Given the description of an element on the screen output the (x, y) to click on. 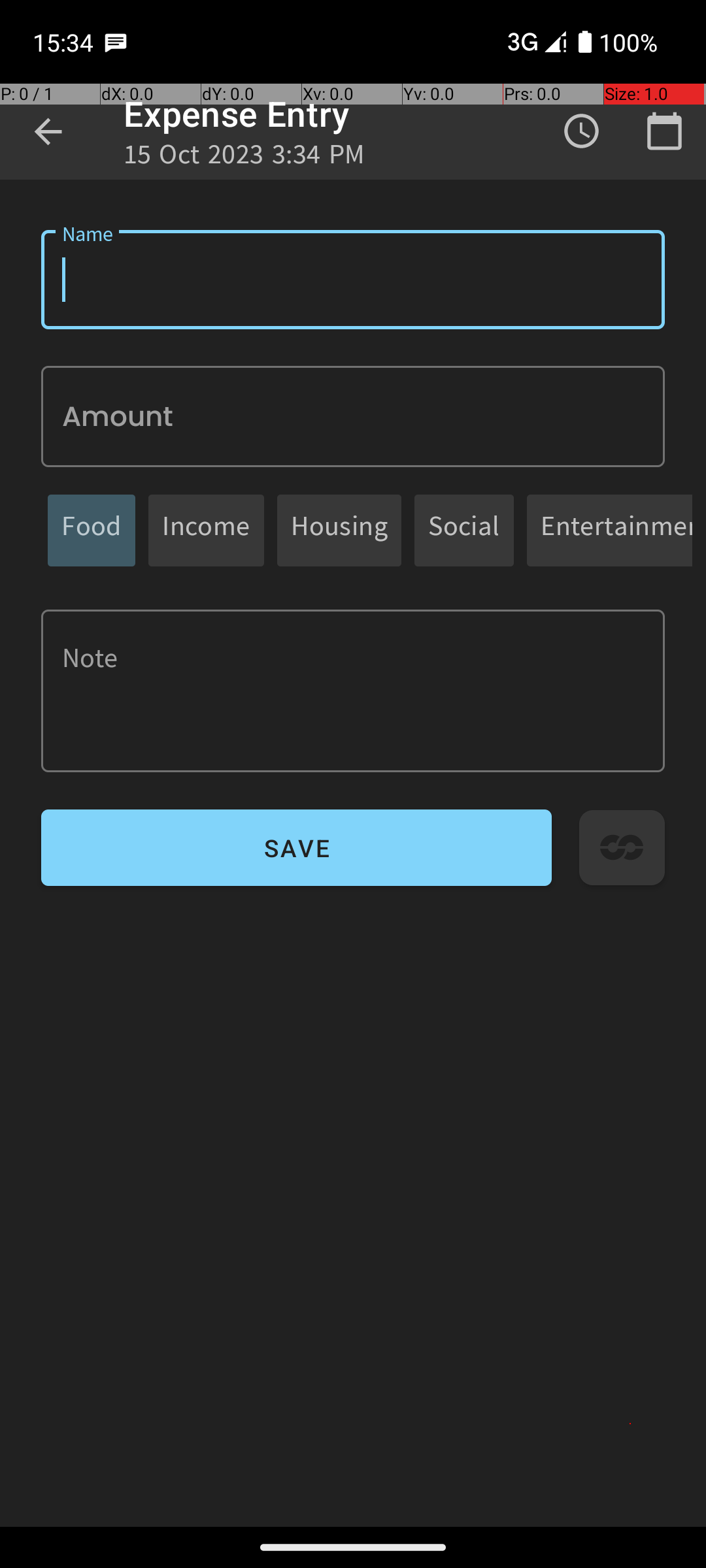
Expense Entry Element type: android.widget.TextView (236, 113)
15 Oct 2023 3:34 PM Element type: android.widget.TextView (244, 157)
Name Element type: android.widget.EditText (352, 279)
SAVE Element type: android.widget.Button (296, 847)
